Given the description of an element on the screen output the (x, y) to click on. 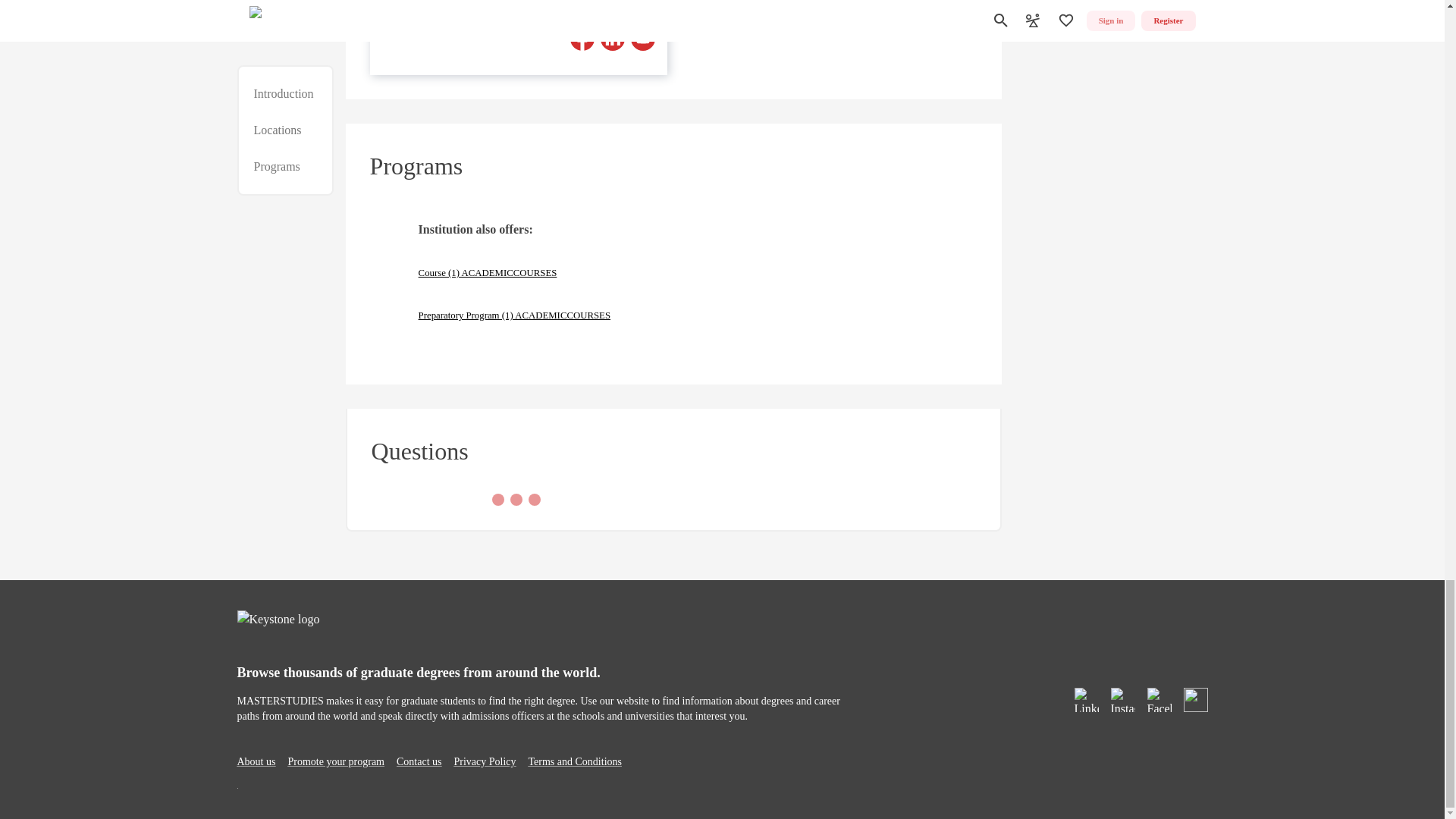
youtube (642, 38)
Contact us (419, 761)
linkedin (611, 38)
Promote your program (335, 761)
facebook (582, 38)
Privacy Policy (483, 761)
About us (255, 761)
